Given the description of an element on the screen output the (x, y) to click on. 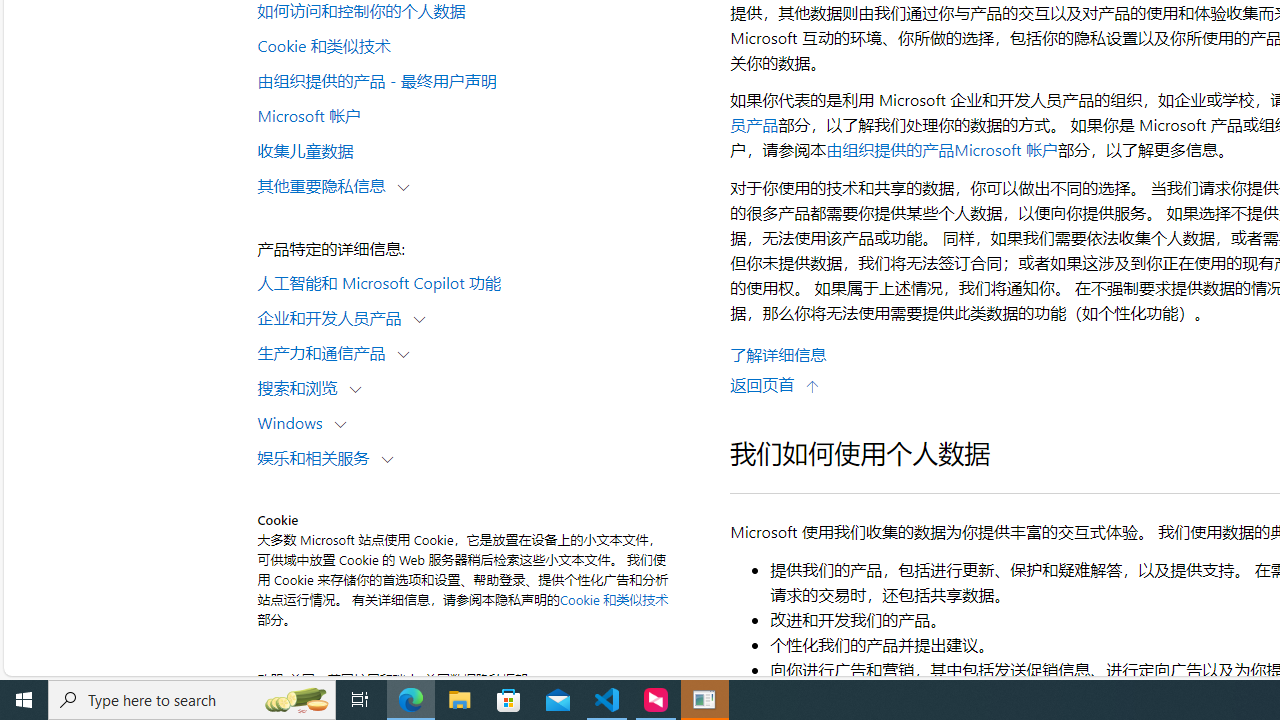
Windows (294, 421)
